Given the description of an element on the screen output the (x, y) to click on. 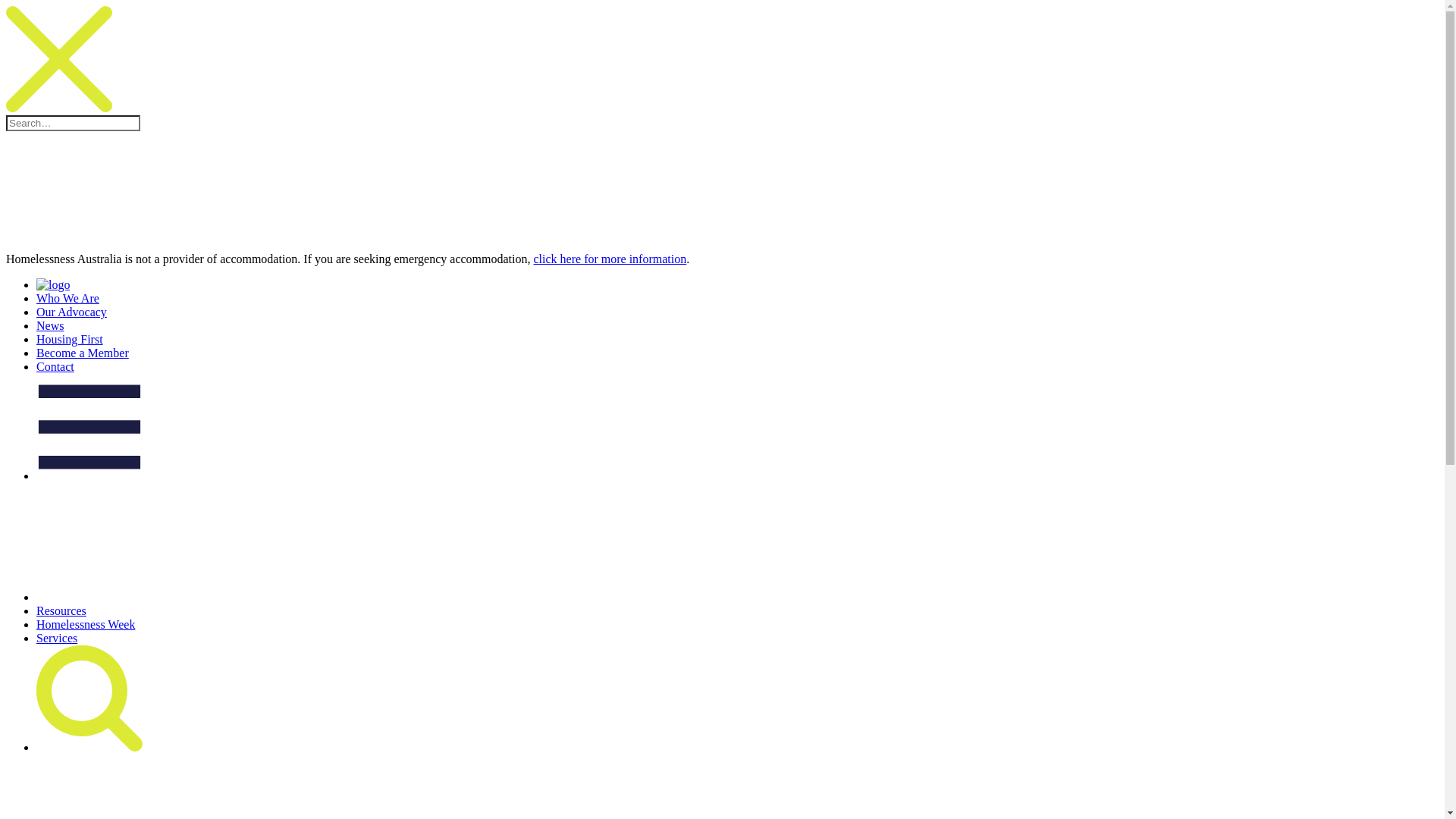
Homelessness Week Element type: text (85, 624)
click here for more information Element type: text (610, 258)
Our Advocacy Element type: text (71, 311)
Housing First Element type: text (69, 338)
Services Element type: text (56, 637)
Contact Element type: text (55, 366)
News Element type: text (49, 325)
Resources Element type: text (61, 610)
Who We Are Element type: text (67, 297)
Become a Member Element type: text (82, 352)
